Given the description of an element on the screen output the (x, y) to click on. 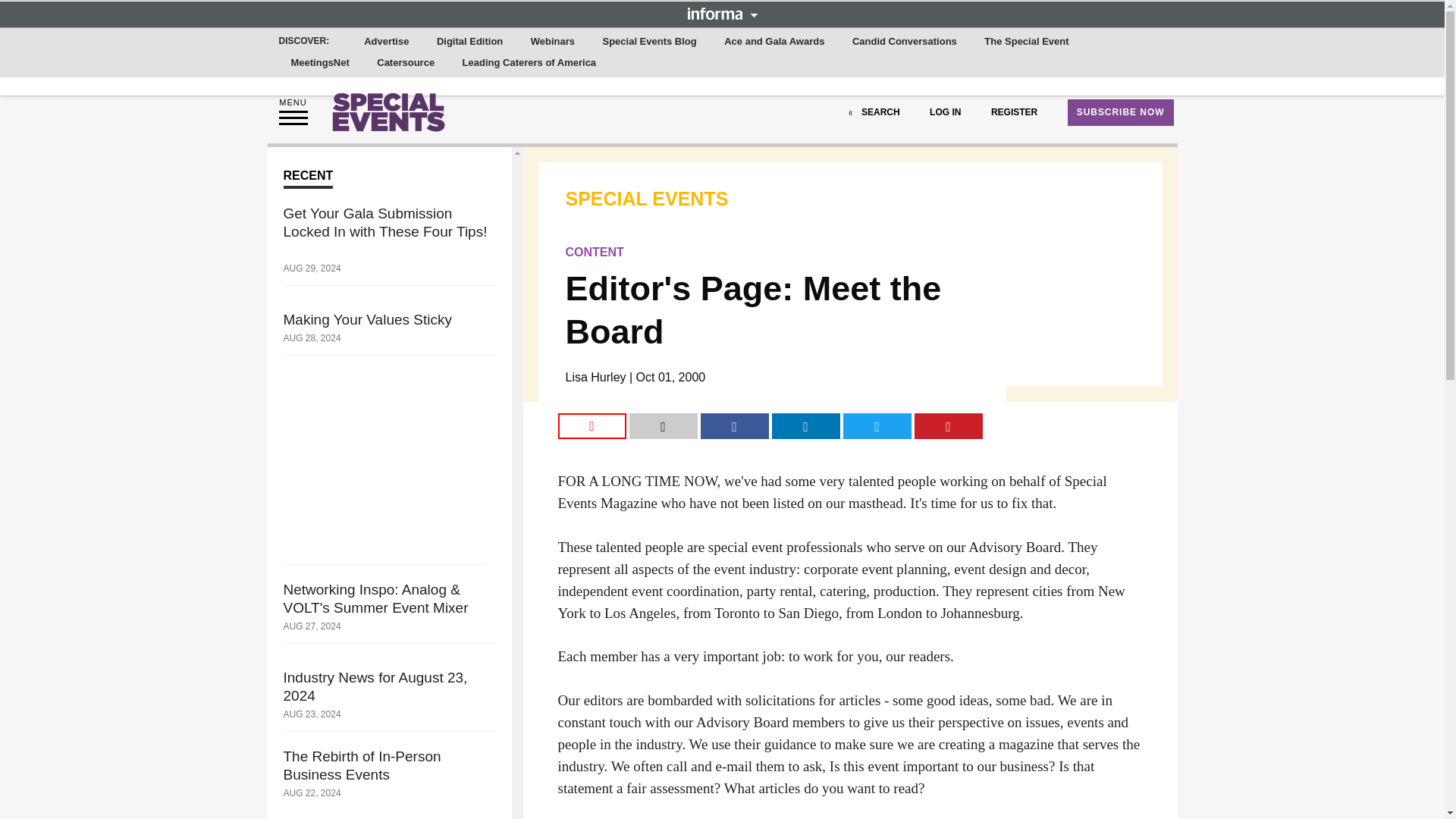
Ace and Gala Awards (773, 41)
Advertise (386, 41)
Leading Caterers of America (529, 62)
Special Events Blog (648, 41)
MeetingsNet (320, 62)
Candid Conversations (903, 41)
The Special Event (1026, 41)
Digital Edition (469, 41)
INFORMA (722, 13)
Webinars (552, 41)
